Given the description of an element on the screen output the (x, y) to click on. 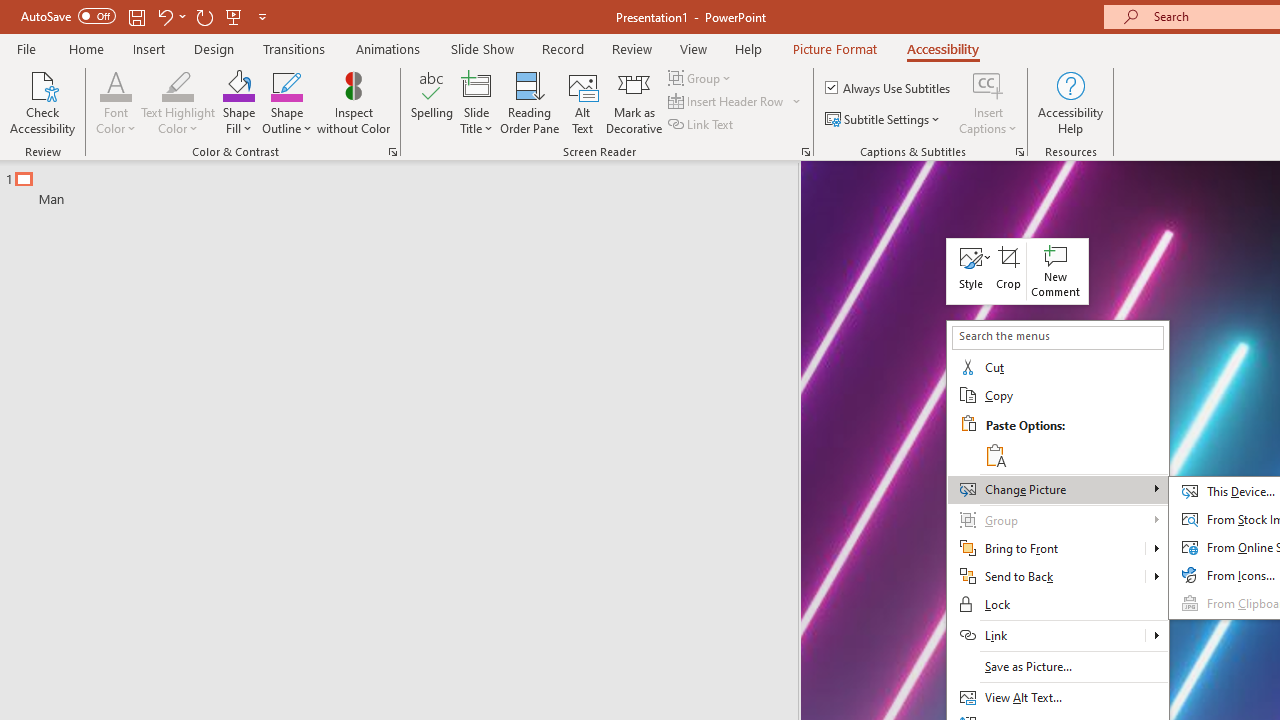
Keep Text Only (994, 454)
Paste Options (1073, 440)
Color & Contrast (392, 151)
Save as Picture... (1057, 667)
Lock (1057, 605)
